Given the description of an element on the screen output the (x, y) to click on. 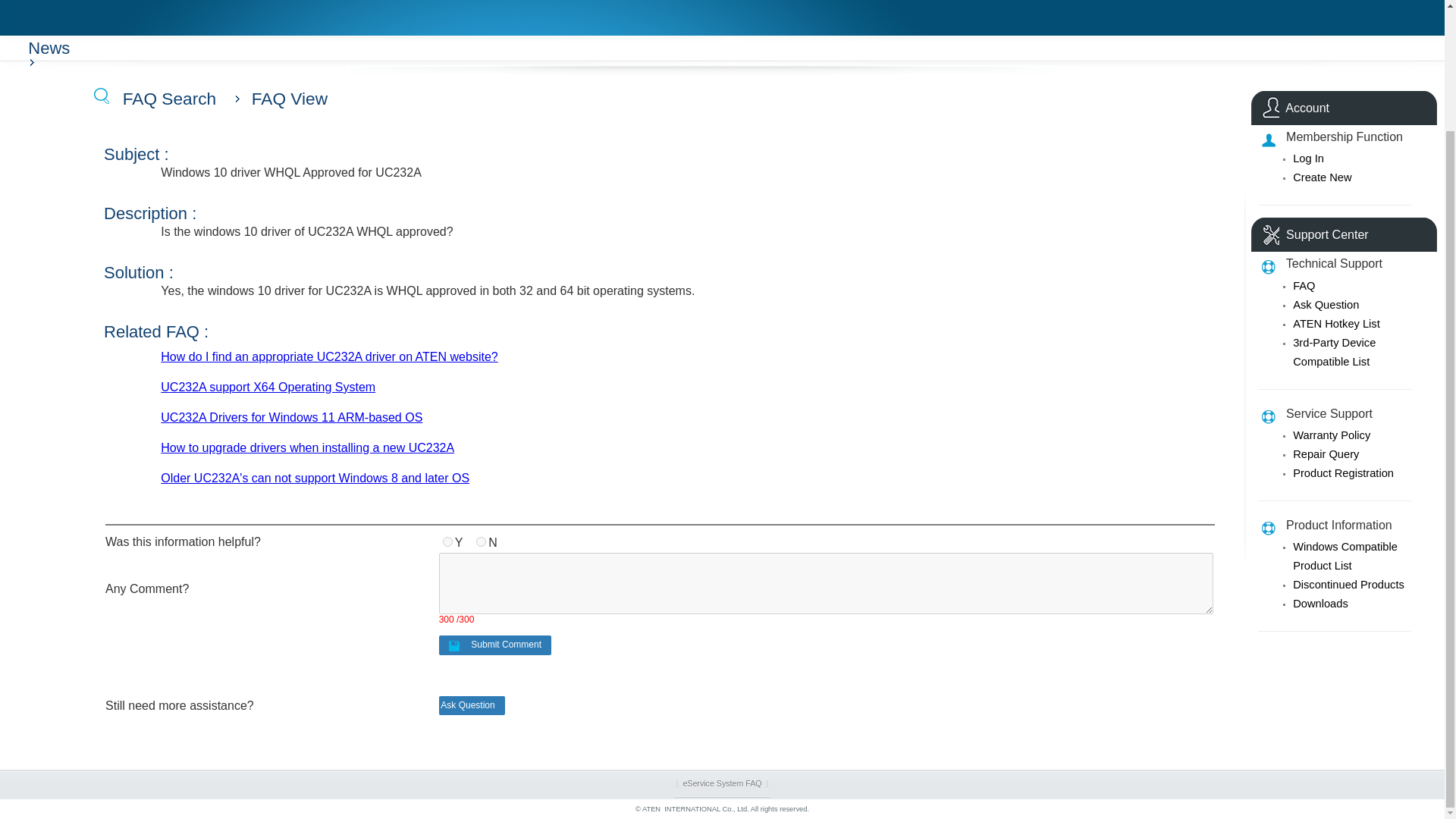
0 (481, 542)
eService System FAQ (721, 782)
Ask Question (1325, 304)
Log In (1307, 158)
How to upgrade drivers when installing a new UC232A (307, 447)
Create New (1321, 177)
Repair Query (1325, 453)
Warranty Policy (1331, 435)
UC232A Drivers for Windows 11 ARM-based OS (291, 417)
1 (447, 542)
